Given the description of an element on the screen output the (x, y) to click on. 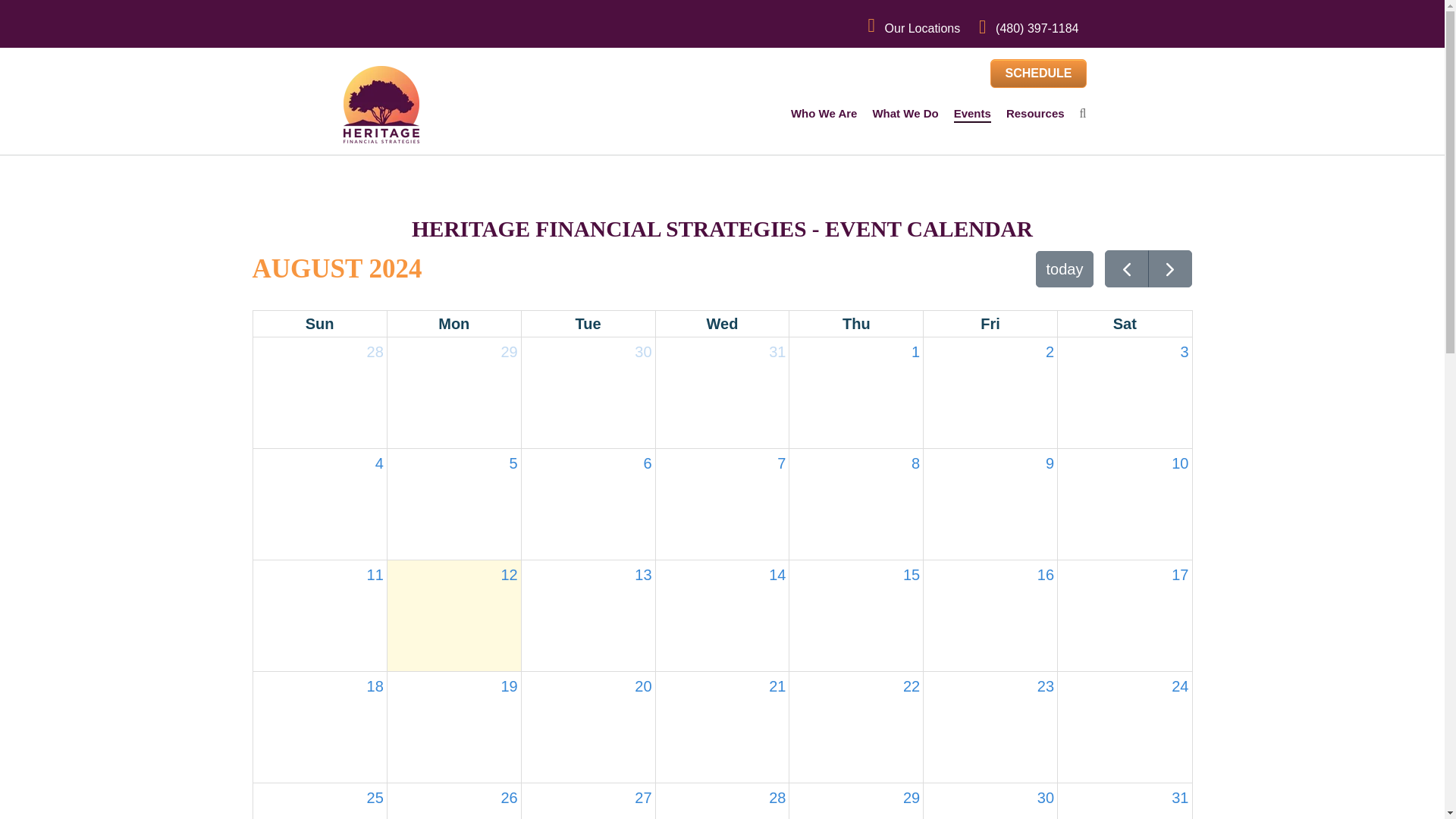
SCHEDULE (1038, 72)
11 (320, 615)
22 (856, 726)
29 (856, 800)
Resources (1035, 113)
Sun (320, 323)
Wed (722, 324)
16 (722, 323)
